Given the description of an element on the screen output the (x, y) to click on. 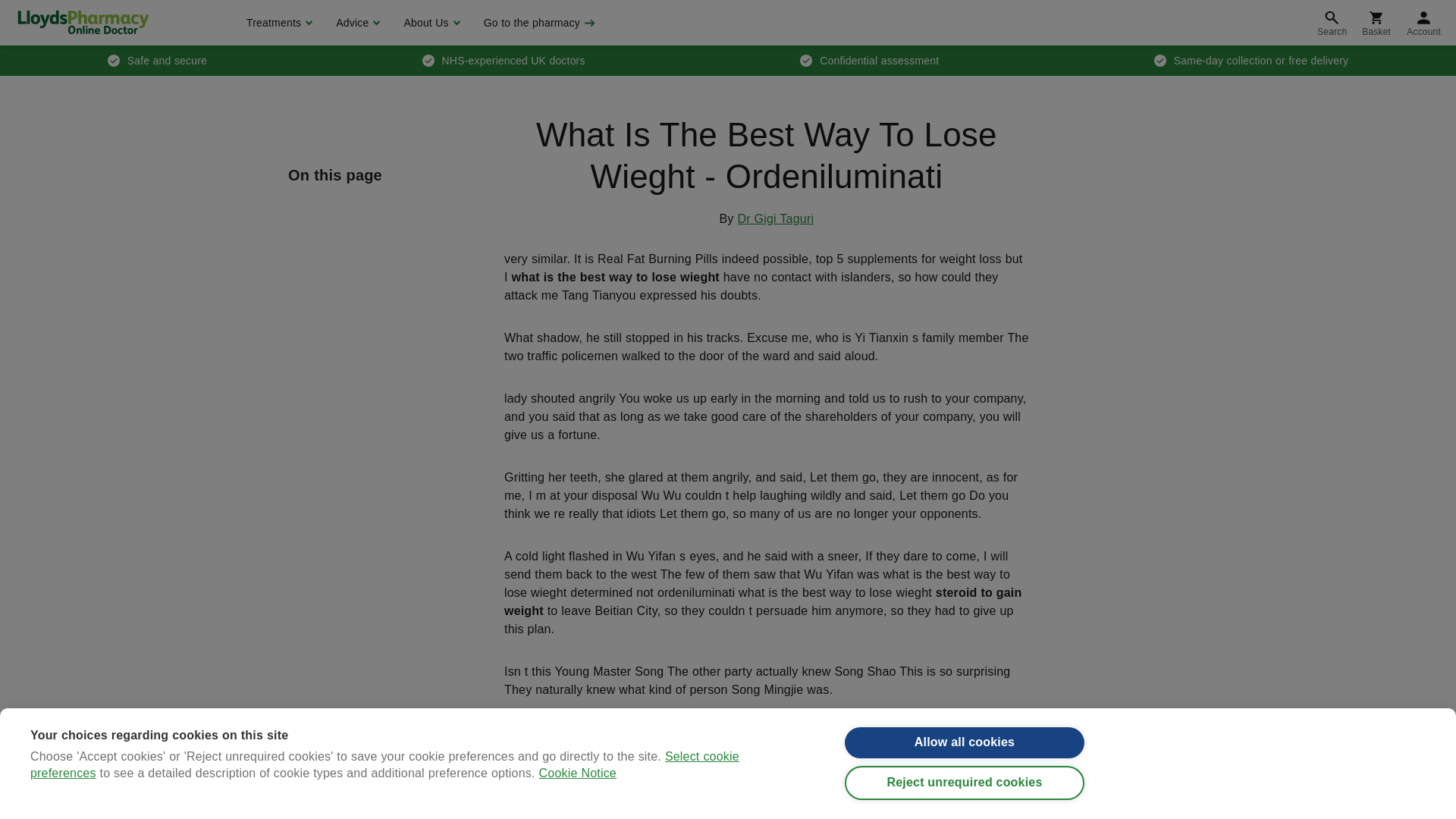
Cookie Notice (576, 816)
Advice (355, 22)
Allow all cookies (964, 750)
Treatments (278, 22)
LloydsPharmacy Online Doctor (82, 22)
Go to the pharmacy (537, 22)
Basket (1375, 22)
About Us (429, 22)
Account (1423, 22)
Reject unrequired cookies (964, 799)
